Given the description of an element on the screen output the (x, y) to click on. 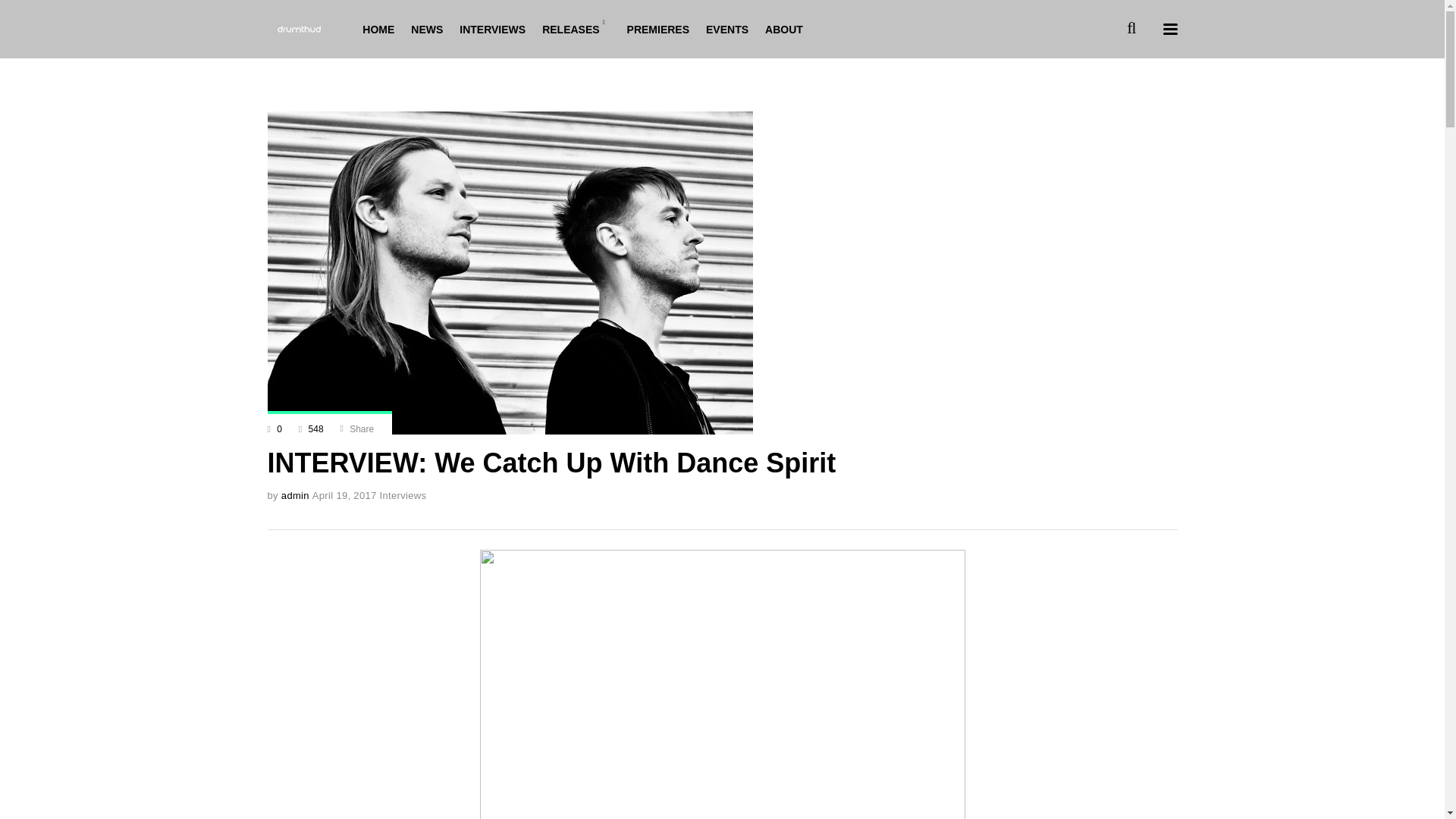
RELEASES (575, 29)
INTERVIEWS (492, 29)
